Given the description of an element on the screen output the (x, y) to click on. 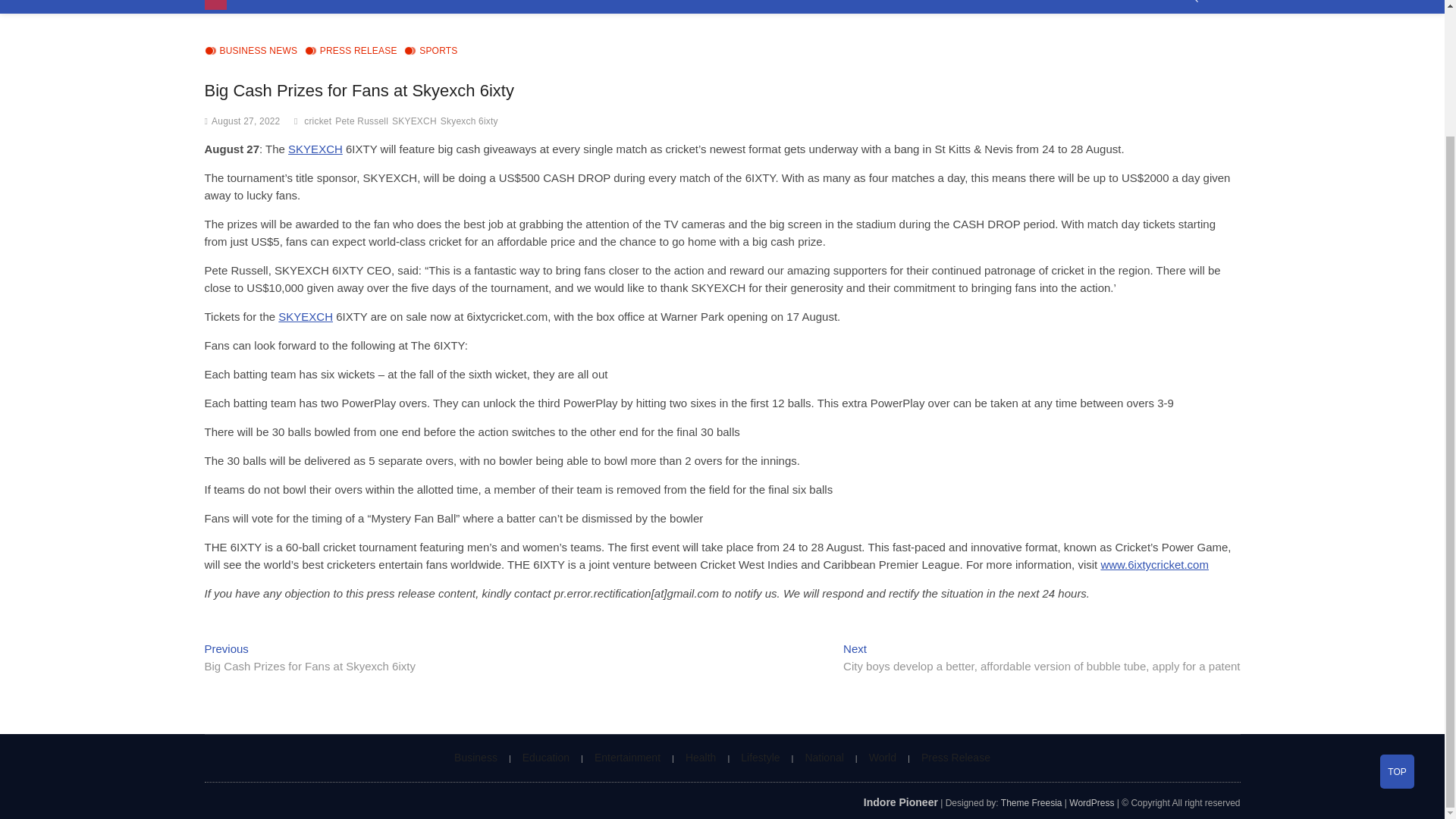
ENTERTAINMENT (435, 6)
Indore Pioneer (900, 802)
PRESS RELEASE (350, 51)
August 27, 2022 (245, 121)
www.6ixtycricket.com (1154, 563)
HEALTH (517, 6)
BUSINESS (269, 6)
BUSINESS NEWS (251, 51)
Theme Freesia (1031, 802)
EDUCATION (342, 6)
